Given the description of an element on the screen output the (x, y) to click on. 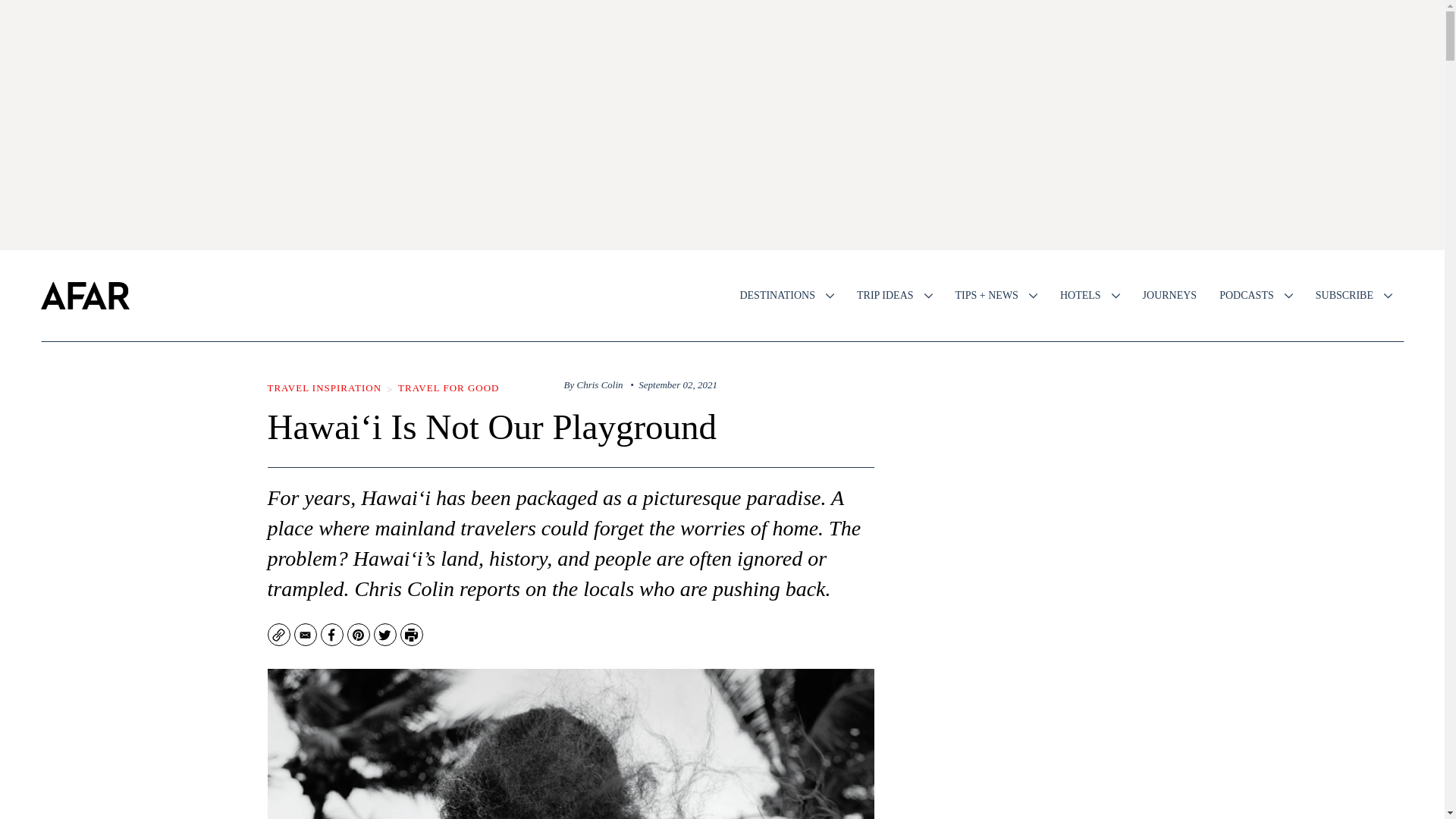
3rd party ad content (1055, 744)
